Given the description of an element on the screen output the (x, y) to click on. 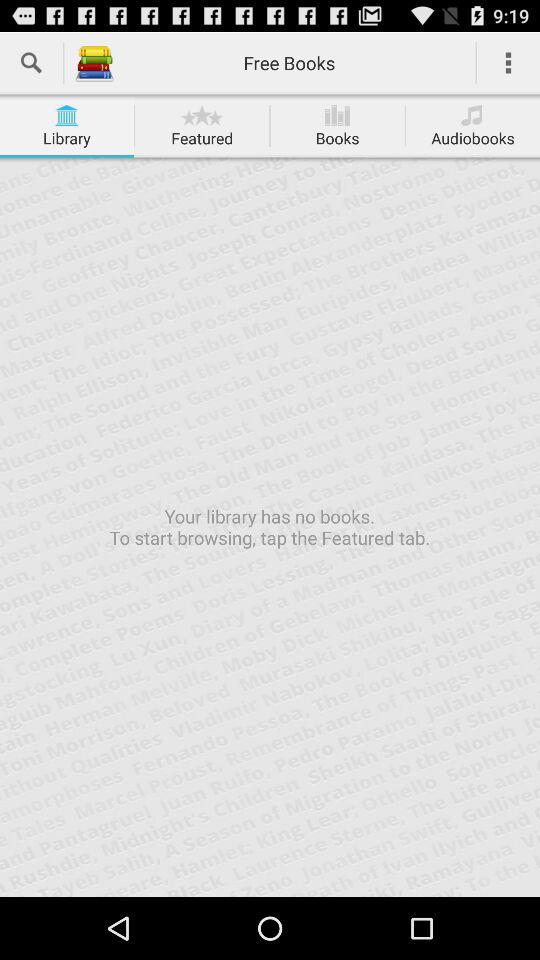
search library (31, 62)
